Given the description of an element on the screen output the (x, y) to click on. 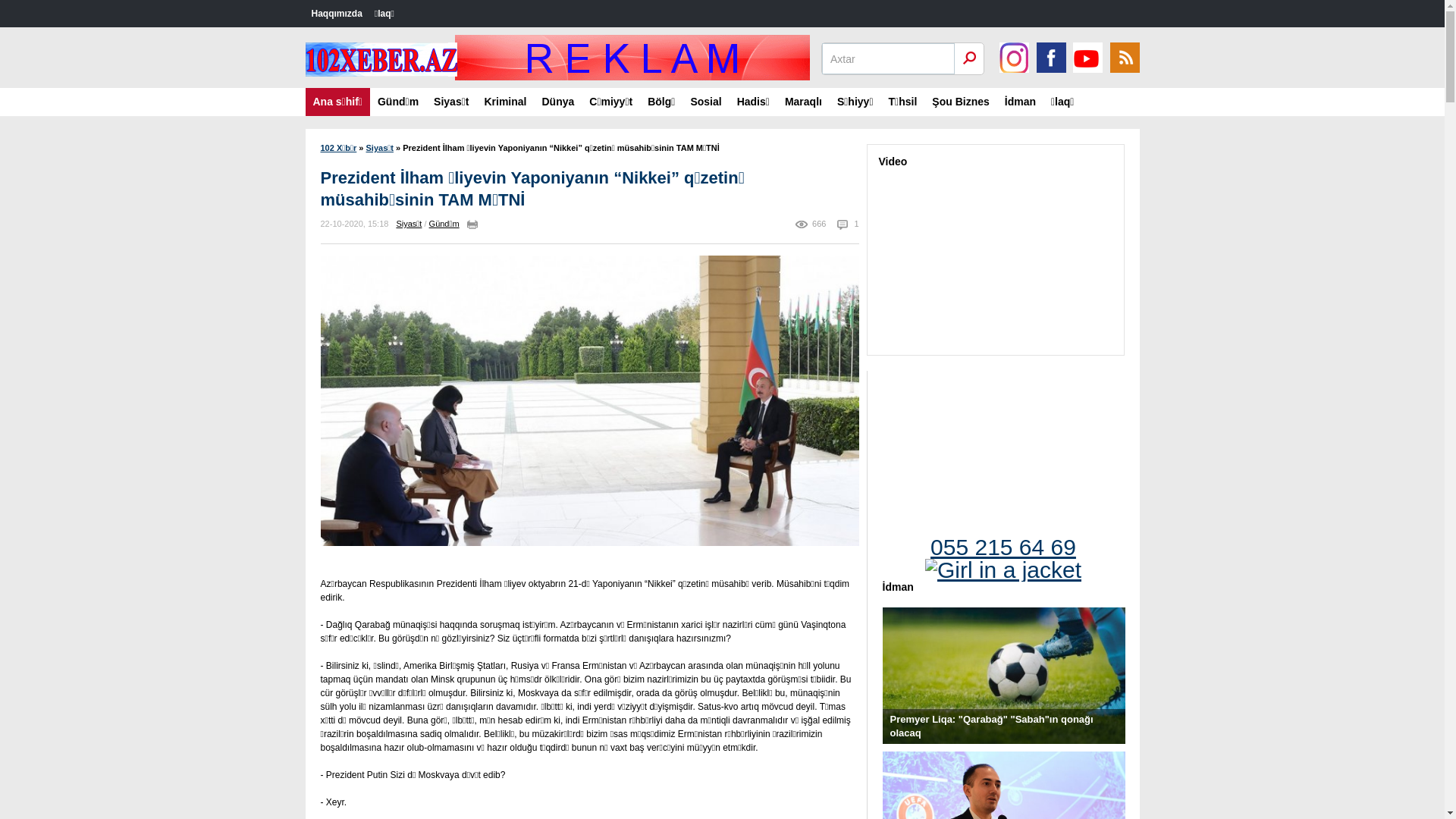
Kriminal Element type: text (504, 101)
Sosial Element type: text (705, 101)
055 215 64 69 Element type: text (1003, 552)
OK Element type: text (968, 58)
